Given the description of an element on the screen output the (x, y) to click on. 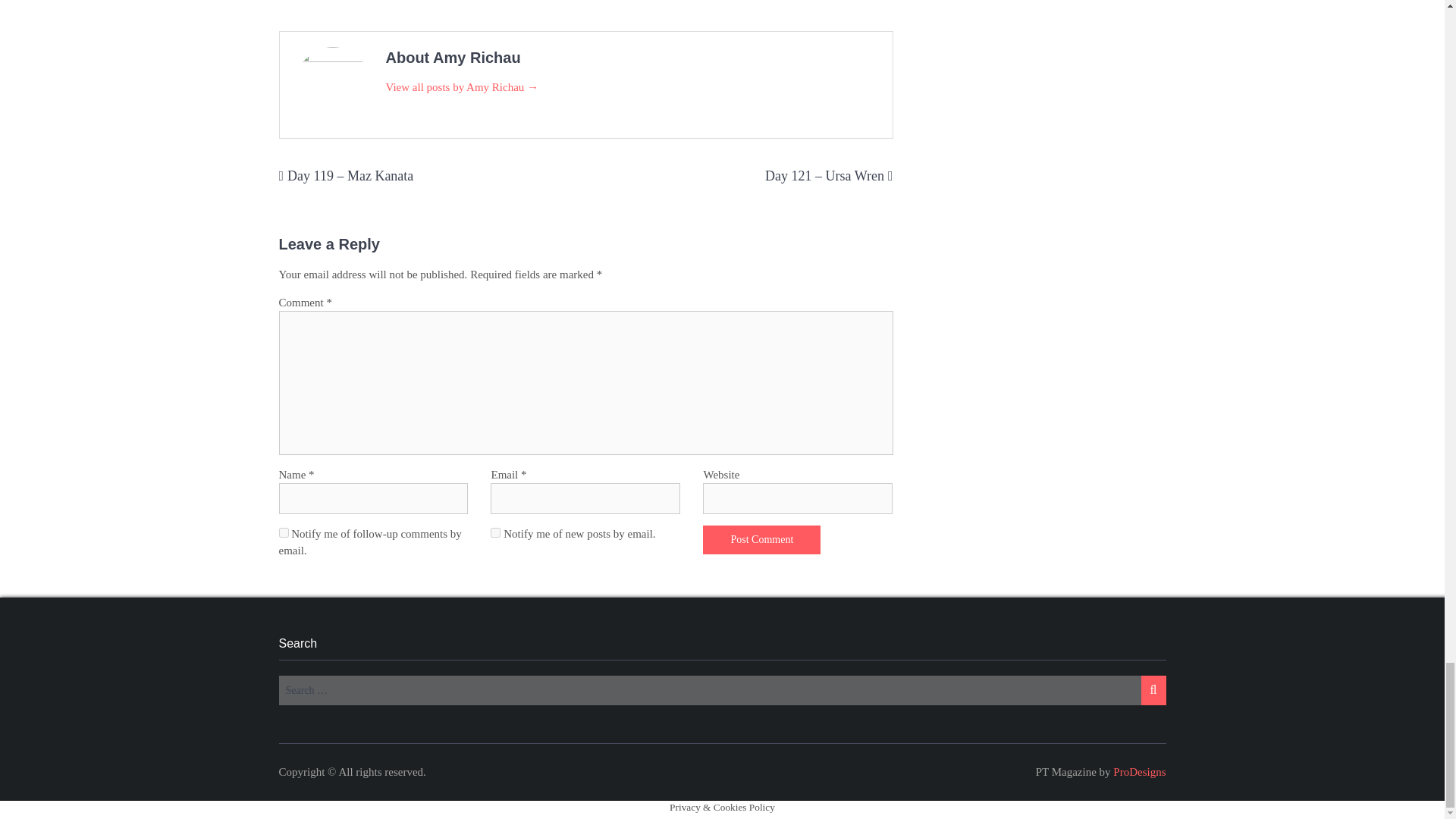
subscribe (283, 532)
subscribe (495, 532)
Post Comment (762, 539)
